Given the description of an element on the screen output the (x, y) to click on. 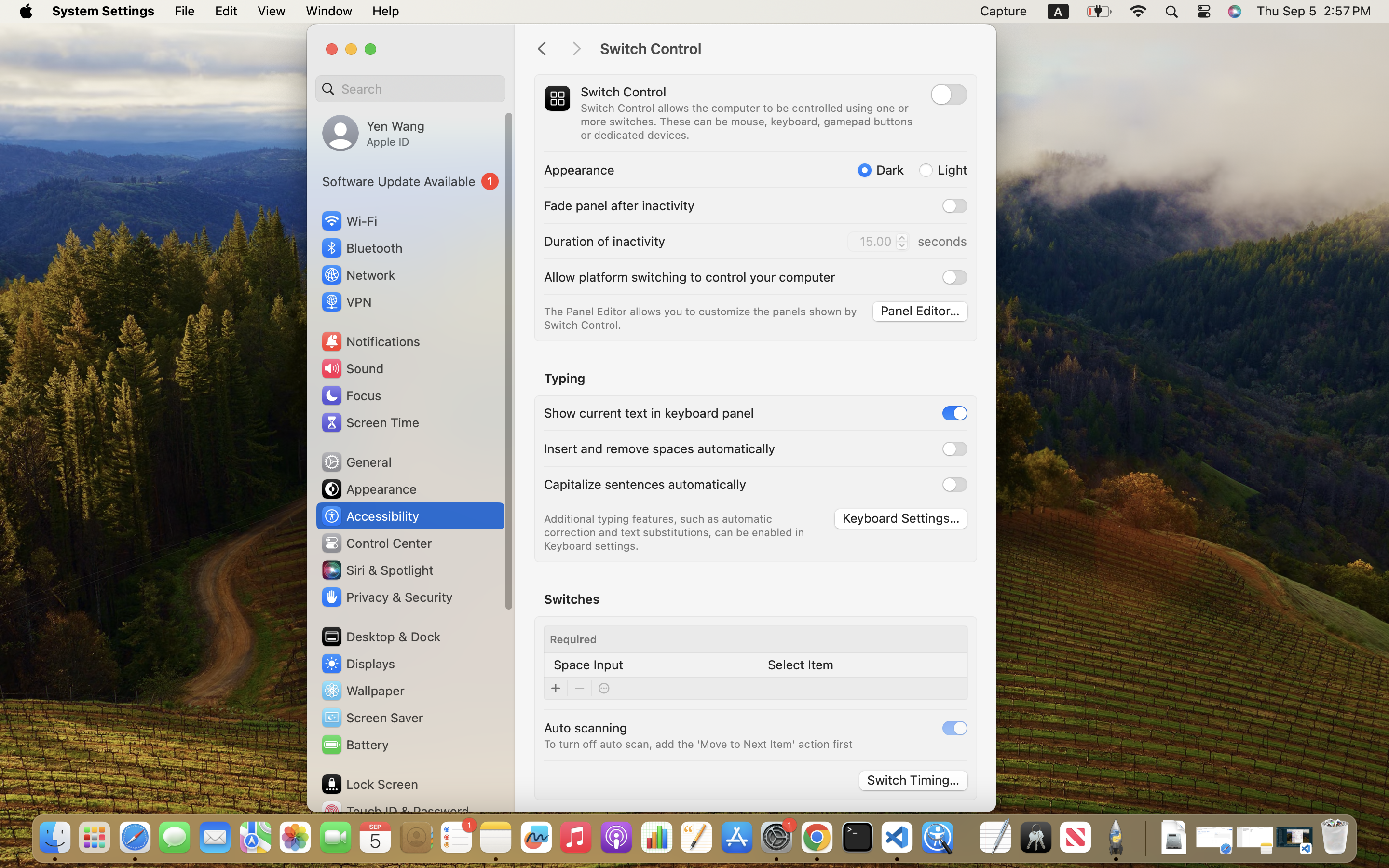
Allow platform switching to control your computer Element type: AXStaticText (689, 276)
Notifications Element type: AXStaticText (370, 340)
Battery Element type: AXStaticText (354, 744)
VPN Element type: AXStaticText (345, 301)
